Given the description of an element on the screen output the (x, y) to click on. 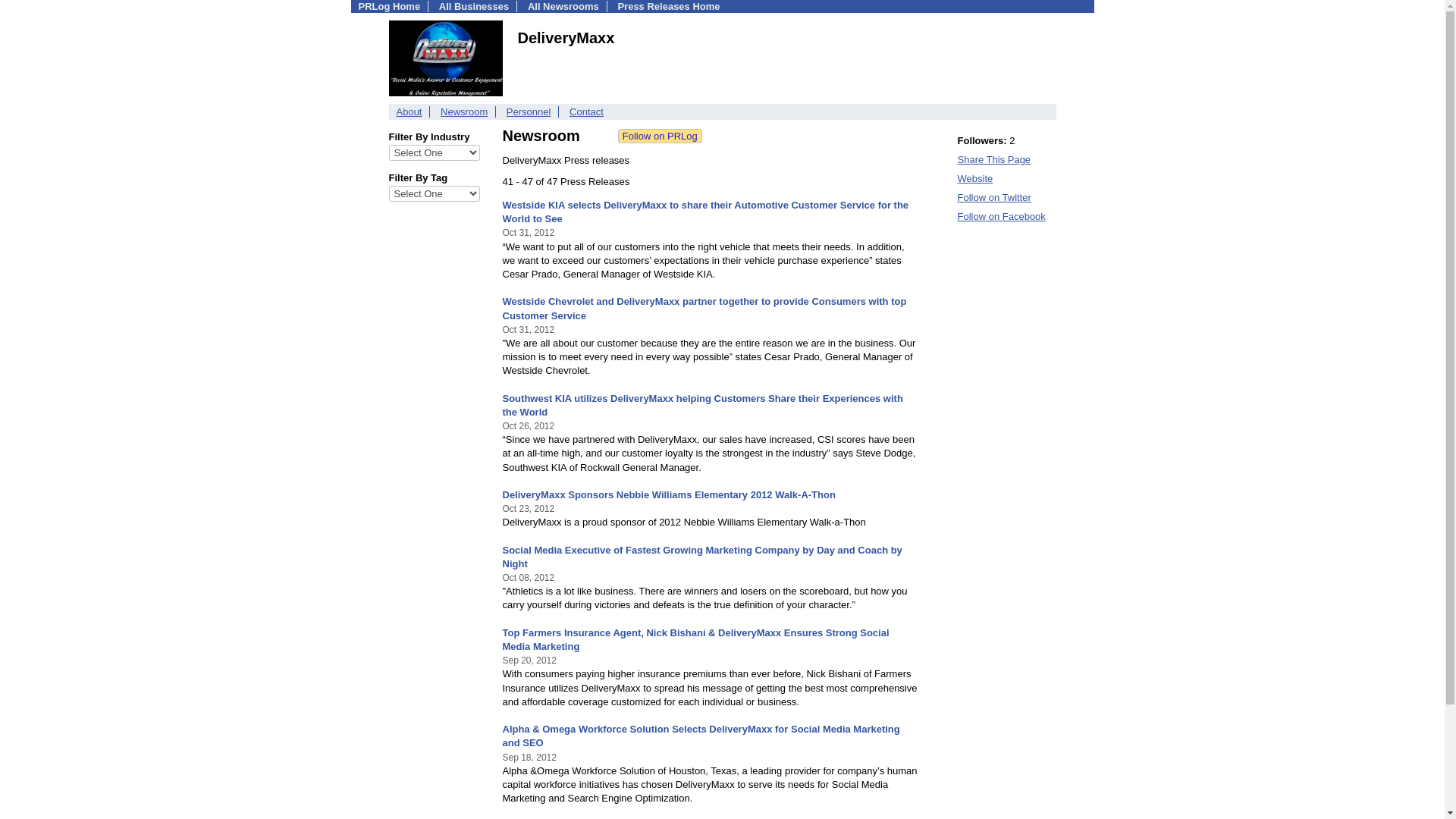
Personnel (528, 111)
All Businesses (474, 6)
Website (974, 178)
Press Releases Home (668, 6)
Click on an option to filter or browse by that option (433, 152)
Follow on Twitter (993, 197)
All Newsrooms (562, 6)
